Given the description of an element on the screen output the (x, y) to click on. 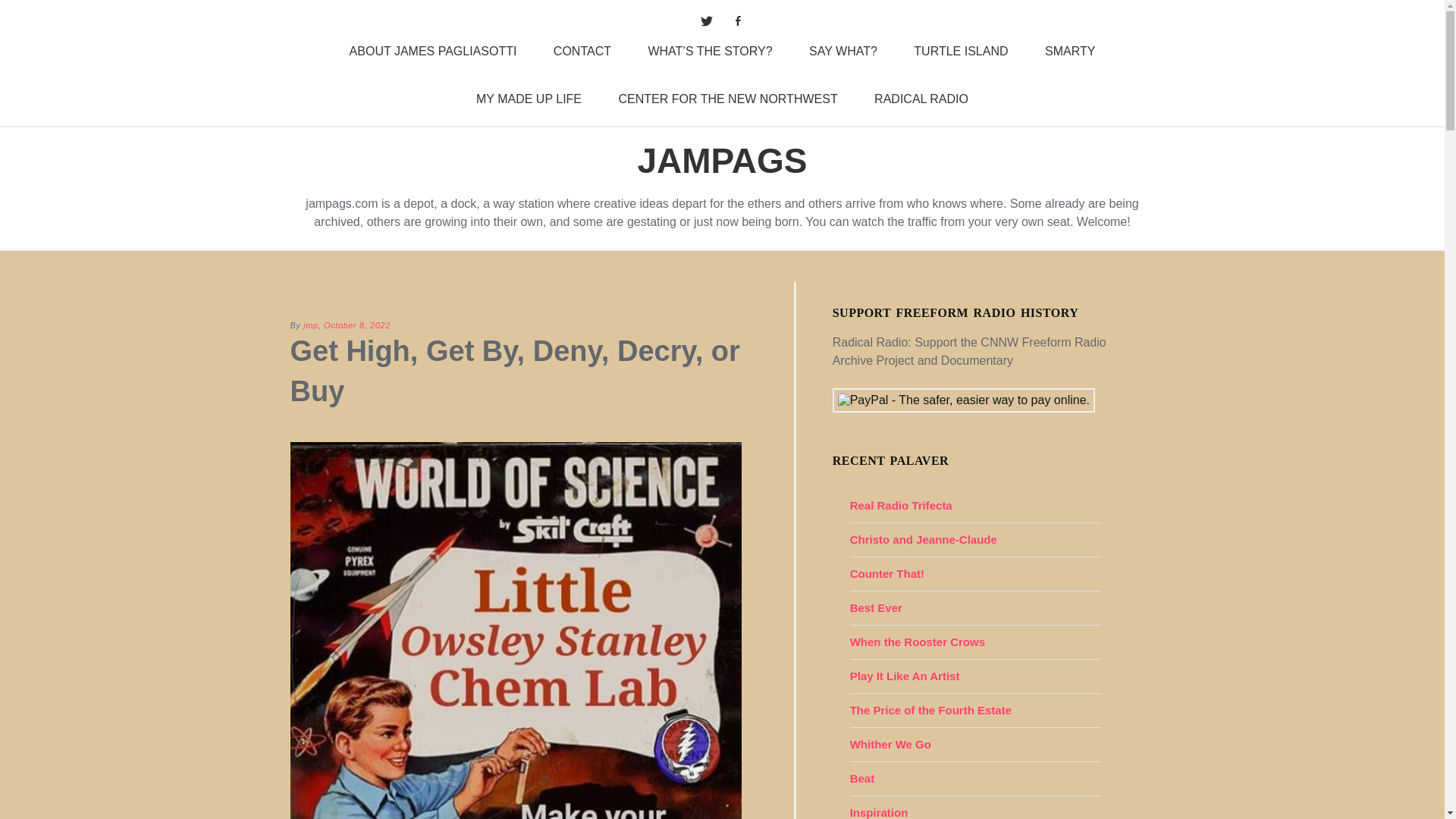
Counter That! (887, 573)
View all posts by jmp (310, 324)
jmp (310, 324)
TURTLE ISLAND (960, 51)
CONTACT (582, 51)
RADICAL RADIO (921, 98)
October 8, 2022 (356, 324)
Permalink to Get High, Get By, Deny, Decry, or Buy (356, 324)
JAMPAGS (721, 161)
Best Ever (876, 607)
